Given the description of an element on the screen output the (x, y) to click on. 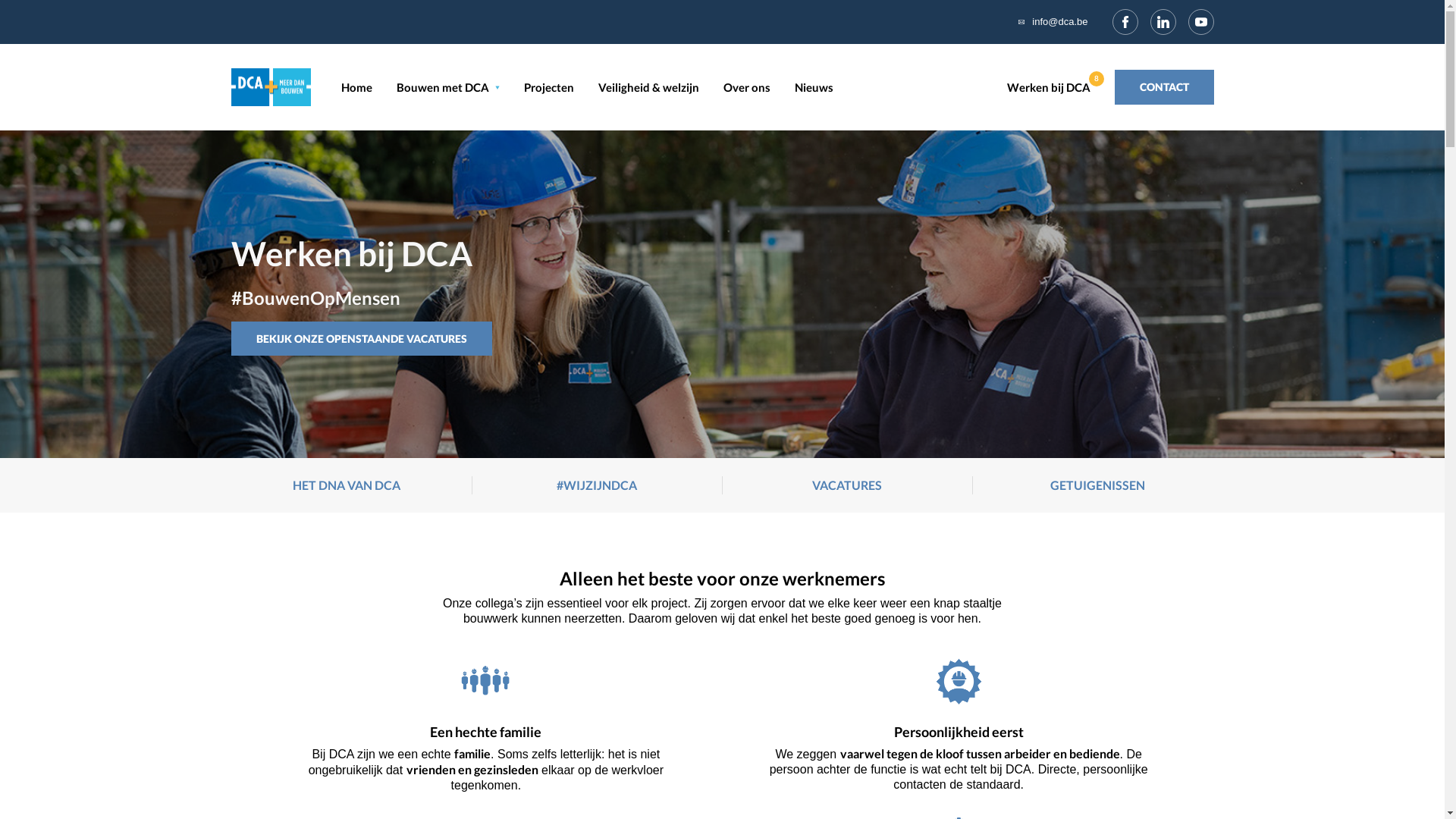
VACATURES Element type: text (846, 485)
icoon-hechte-familie Element type: hover (485, 680)
Home Element type: hover (270, 85)
Projecten Element type: text (548, 87)
Werken bij DCA
8 Element type: text (1051, 87)
CONTACT Element type: text (1164, 86)
icoon-persoonlijkheid Element type: hover (958, 680)
HET DNA VAN DCA Element type: text (346, 485)
Home Element type: text (356, 87)
#WIJZIJNDCA Element type: text (596, 485)
Veiligheid & welzijn Element type: text (647, 87)
BEKIJK ONZE OPENSTAANDE VACATURES Element type: text (360, 338)
GETUIGENISSEN Element type: text (1097, 485)
Over ons Element type: text (746, 87)
info@dca.be Element type: text (1059, 22)
Nieuws Element type: text (813, 87)
